Given the description of an element on the screen output the (x, y) to click on. 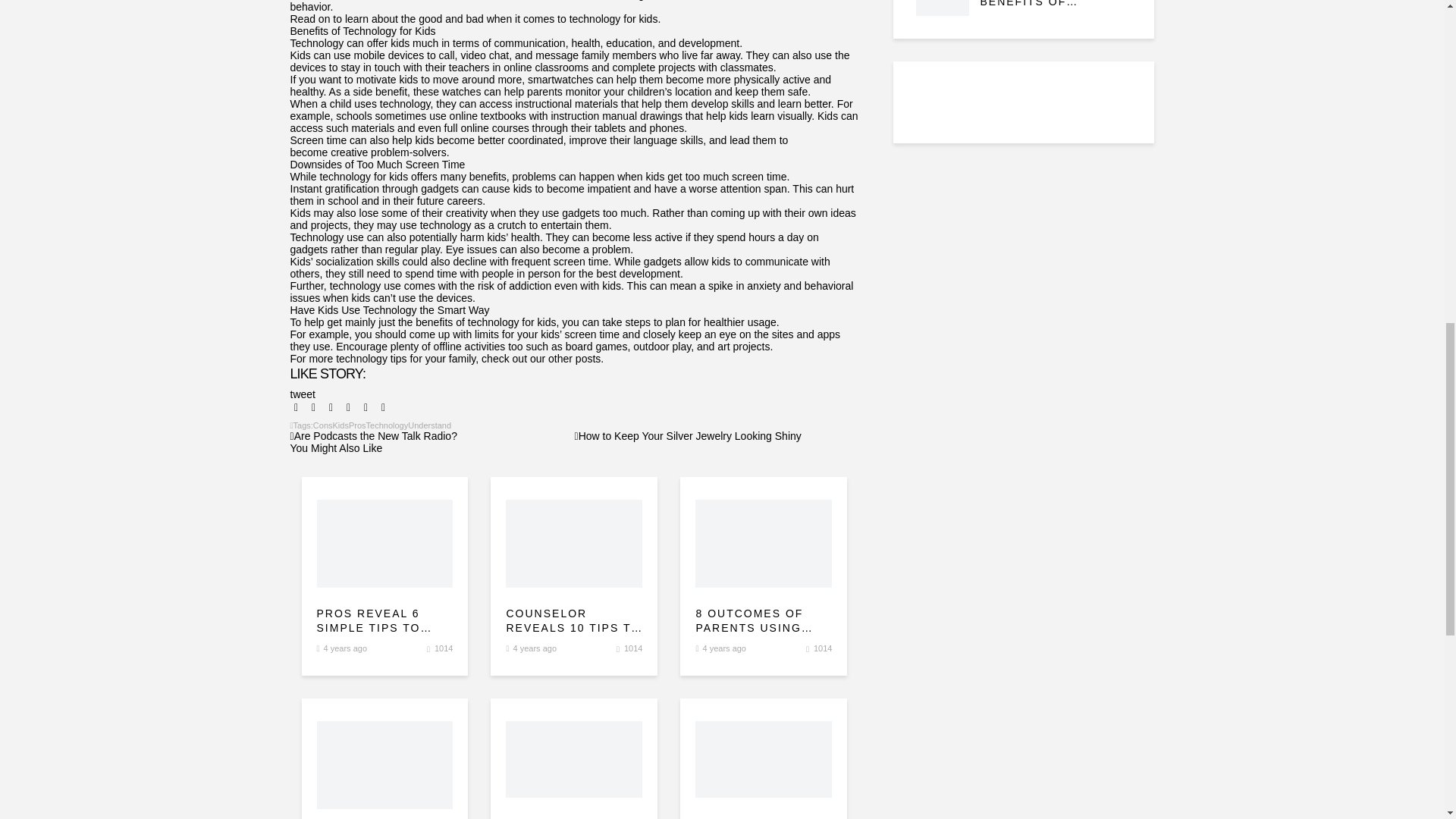
Technology (387, 424)
Understand (429, 424)
Kids (341, 424)
Pros (357, 424)
Kids (341, 424)
How to Keep Your Silver Jewelry Looking Shiny (688, 435)
Technology (387, 424)
Technology for Kids: Understand the Pros and Cons (384, 543)
Cons (323, 424)
Are Podcasts the New Talk Radio? (373, 435)
